Given the description of an element on the screen output the (x, y) to click on. 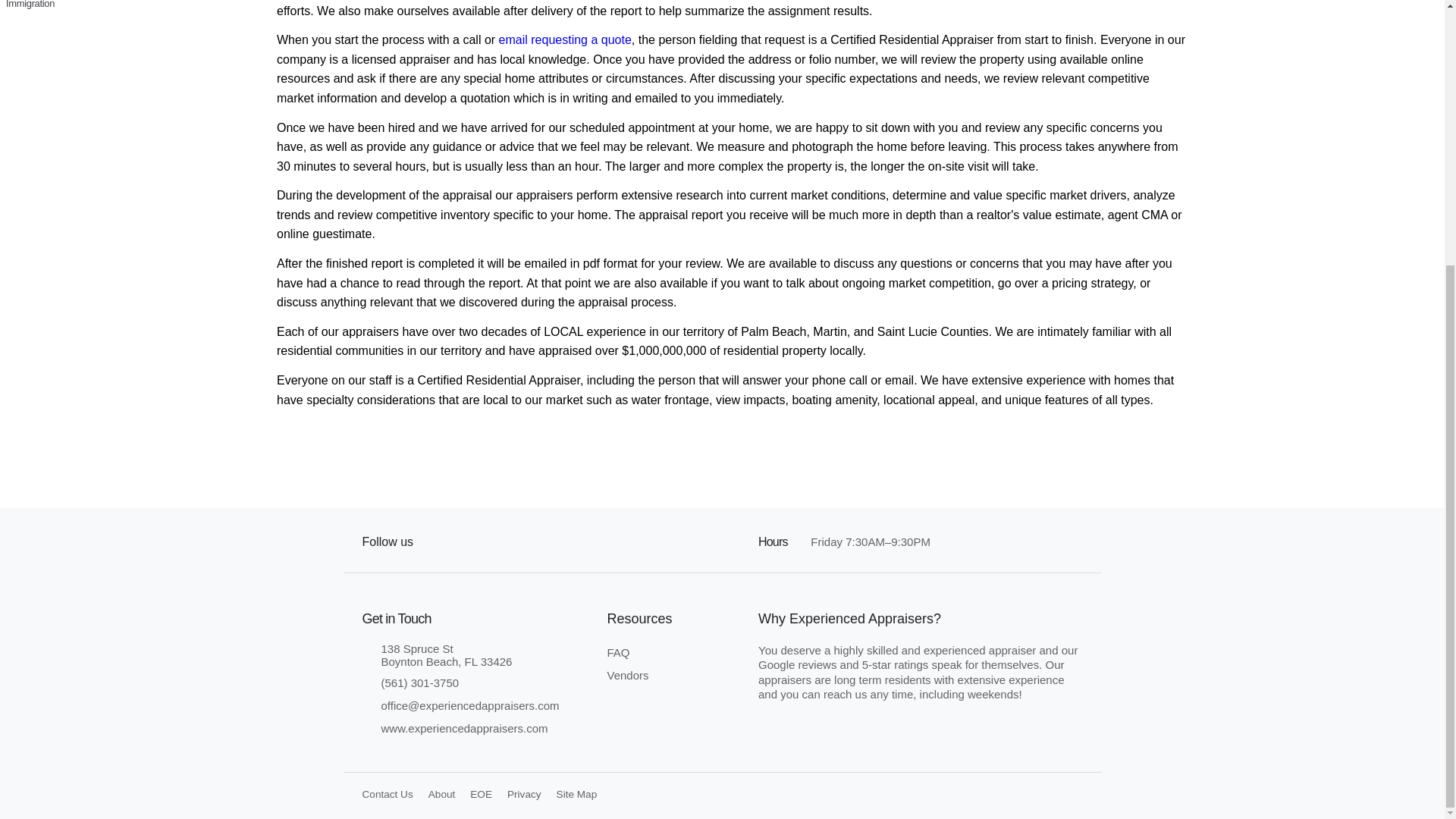
Site Map (480, 654)
Immigration (580, 794)
Vendors (75, 9)
EOE (627, 675)
Call Experienced Appraisers (484, 794)
Get Directions to Experienced Appraisers (480, 682)
Privacy (480, 654)
email requesting a quote (527, 794)
FAQ (565, 39)
About (617, 652)
Contact Us (445, 794)
facebook (391, 794)
www.experiencedappraisers.com (446, 541)
Visit Our Facebook Page (480, 727)
